Given the description of an element on the screen output the (x, y) to click on. 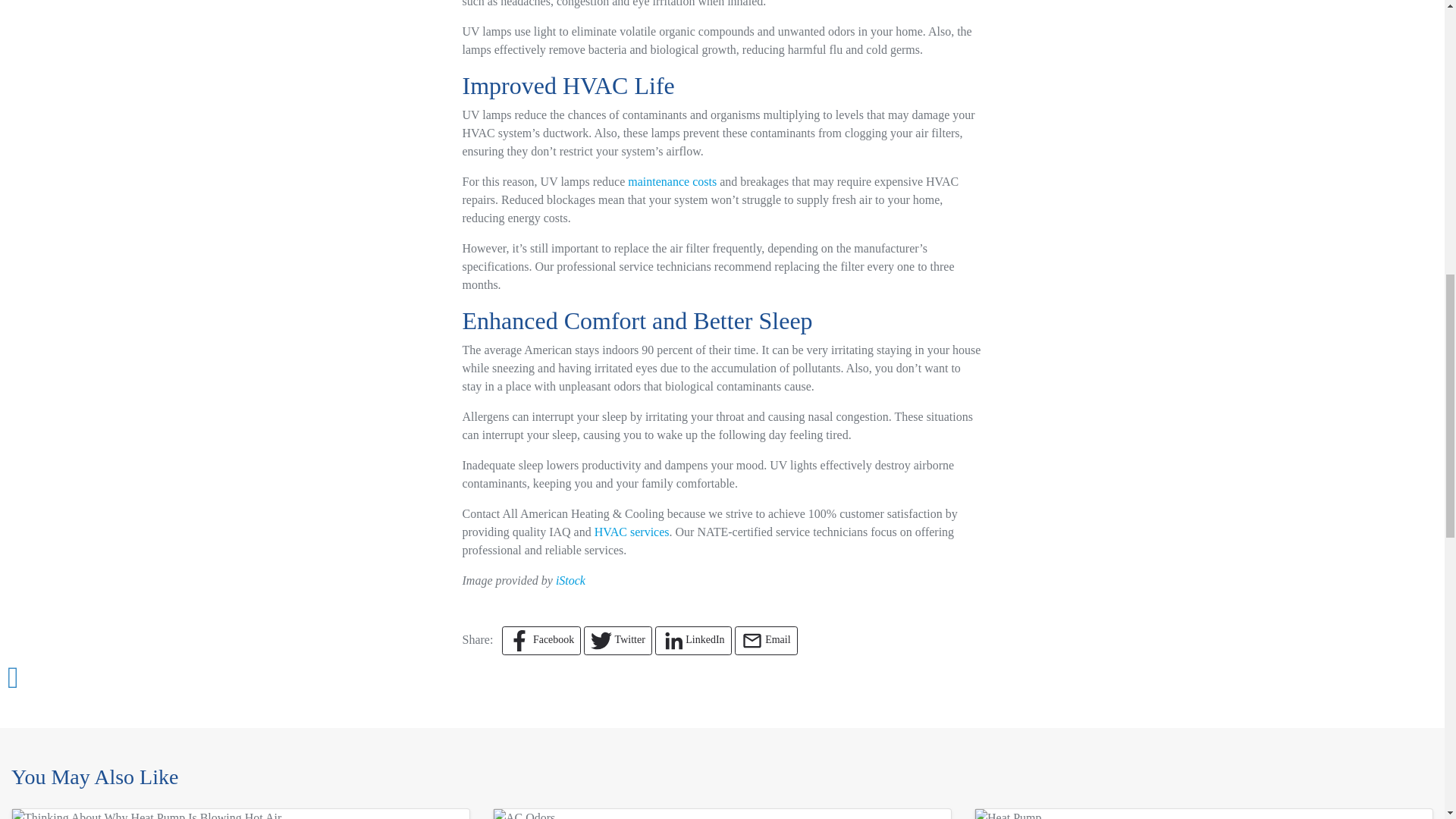
Email (766, 640)
iStock (570, 580)
Twitter (616, 640)
LinkedIn (693, 640)
Facebook (541, 640)
maintenance costs (671, 181)
HVAC services (631, 531)
